Given the description of an element on the screen output the (x, y) to click on. 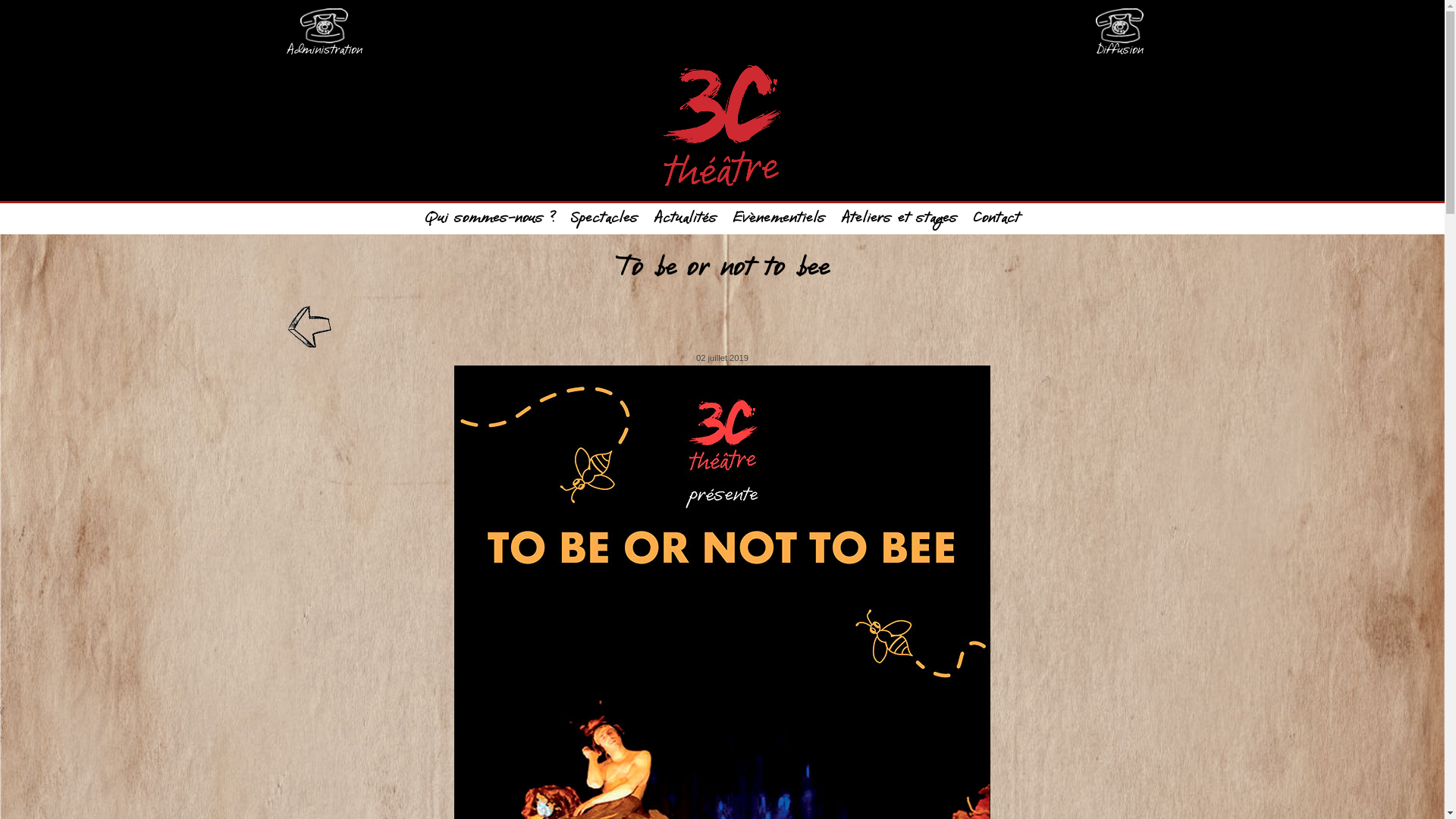
Ateliers et stages Element type: text (899, 218)
Spectacles Element type: text (604, 218)
Contact Element type: text (996, 218)
Qui sommes-nous ? Element type: text (490, 218)
